Given the description of an element on the screen output the (x, y) to click on. 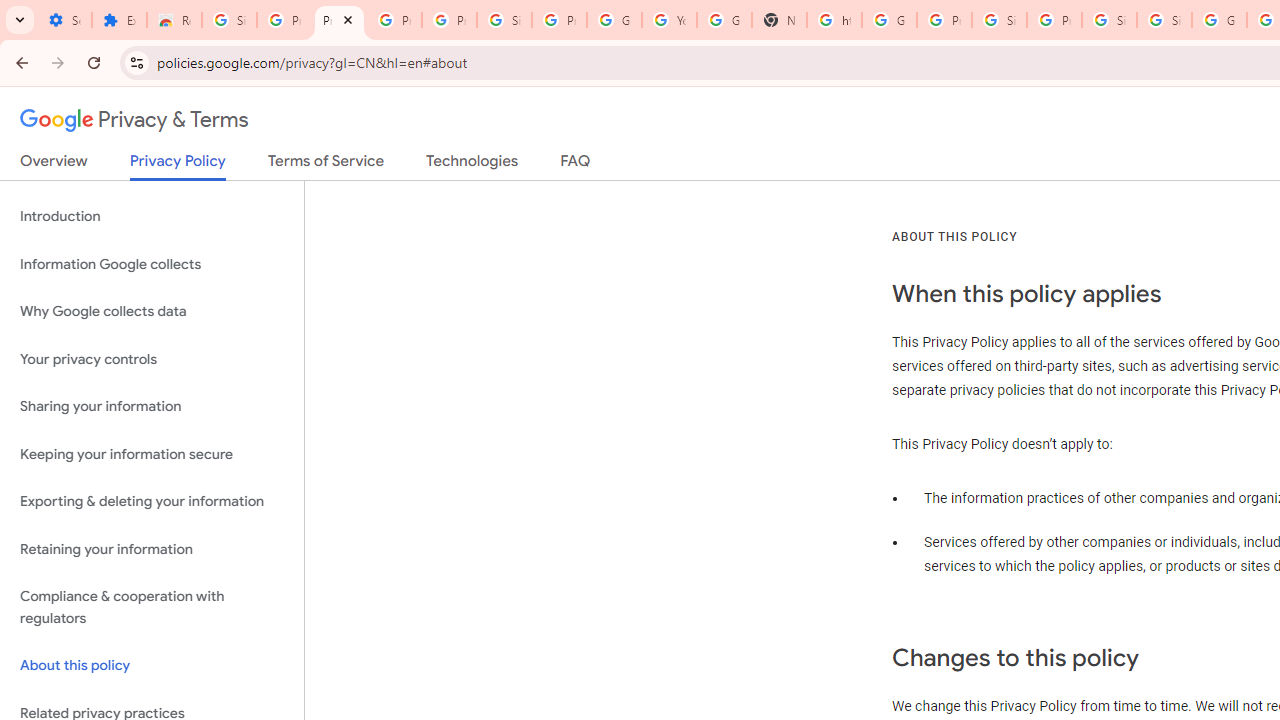
Sign in - Google Accounts (1108, 20)
Why Google collects data (152, 312)
Reviews: Helix Fruit Jump Arcade Game (174, 20)
About this policy (152, 666)
Settings - On startup (64, 20)
